Given the description of an element on the screen output the (x, y) to click on. 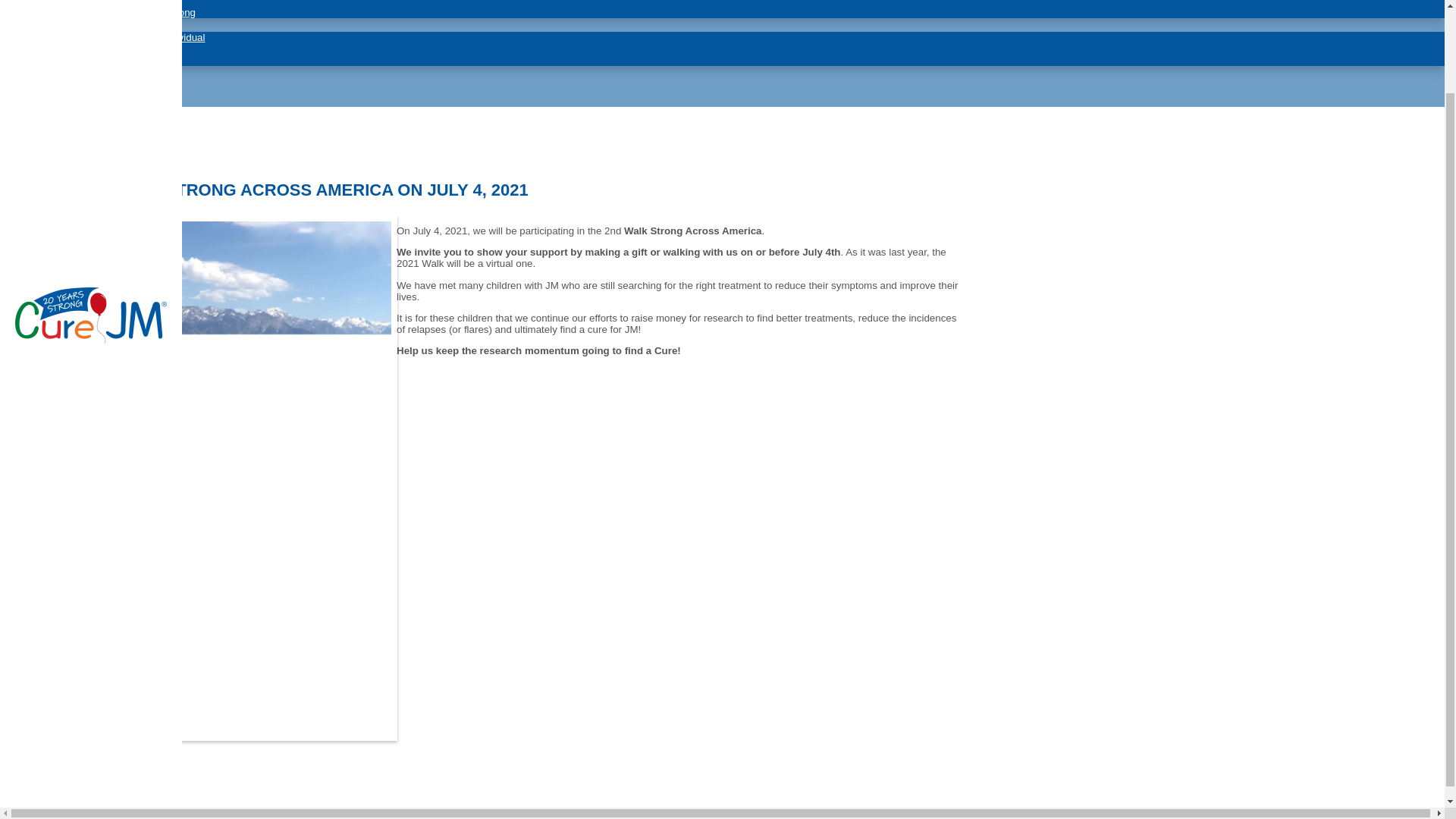
Make a General Donation (118, 60)
Participant Guide Walk Strong (128, 12)
Donate in Honor of a Team (120, 48)
DONATE (55, 24)
VOLUNTEERS (71, 85)
Donate in Honor of an Individual (133, 37)
STATE WALKS (72, 99)
SPONSORS (64, 72)
Sponsor Flyer (92, 3)
Cure JM Foundation (90, 339)
